Given the description of an element on the screen output the (x, y) to click on. 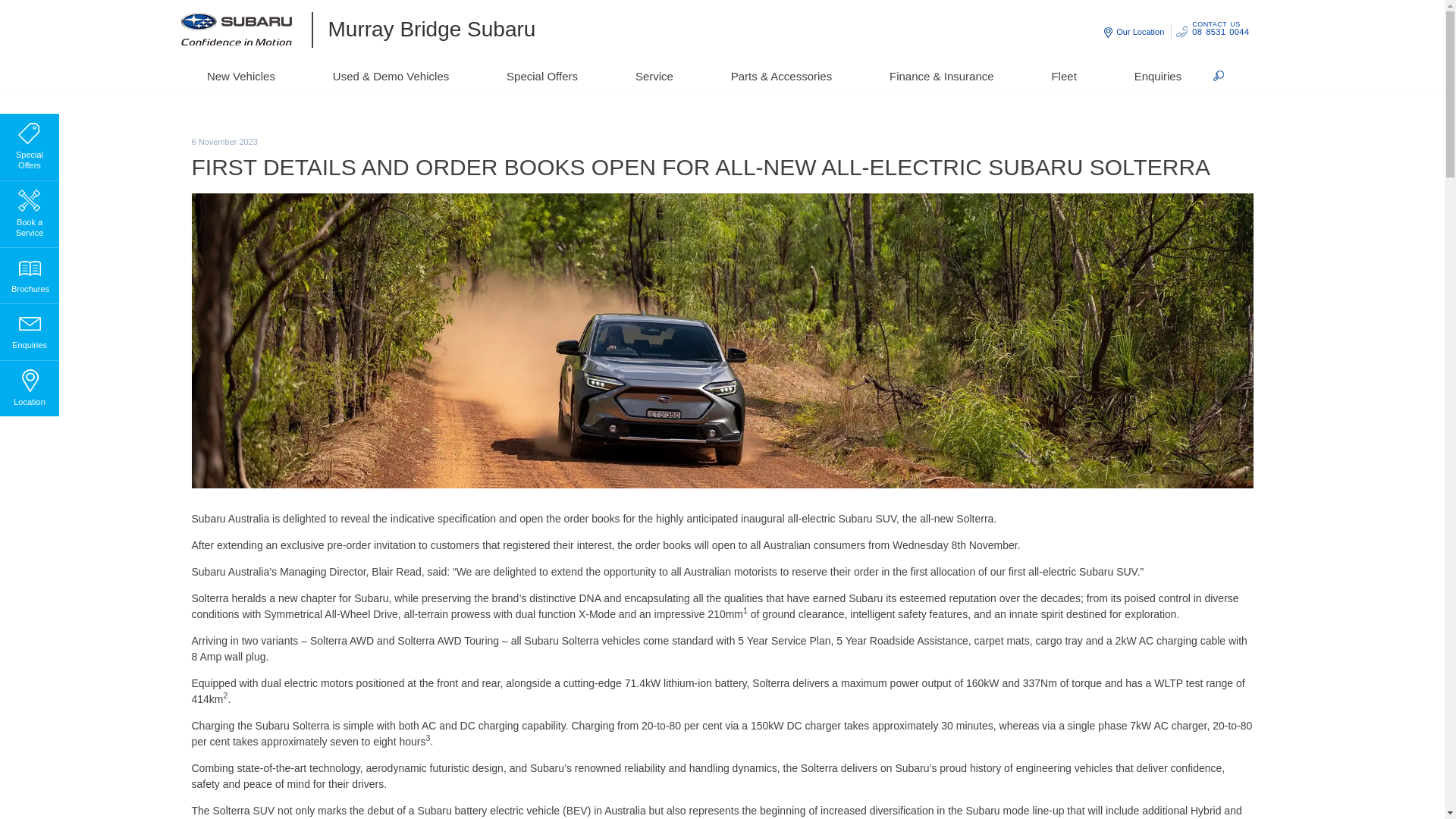
Enquiries (28, 328)
Murray Bridge Subaru (246, 29)
Murray Bridge Subaru (424, 29)
Location (28, 385)
Murray Bridge Subaru (424, 29)
New Vehicles (240, 75)
Brochures (28, 272)
